Given the description of an element on the screen output the (x, y) to click on. 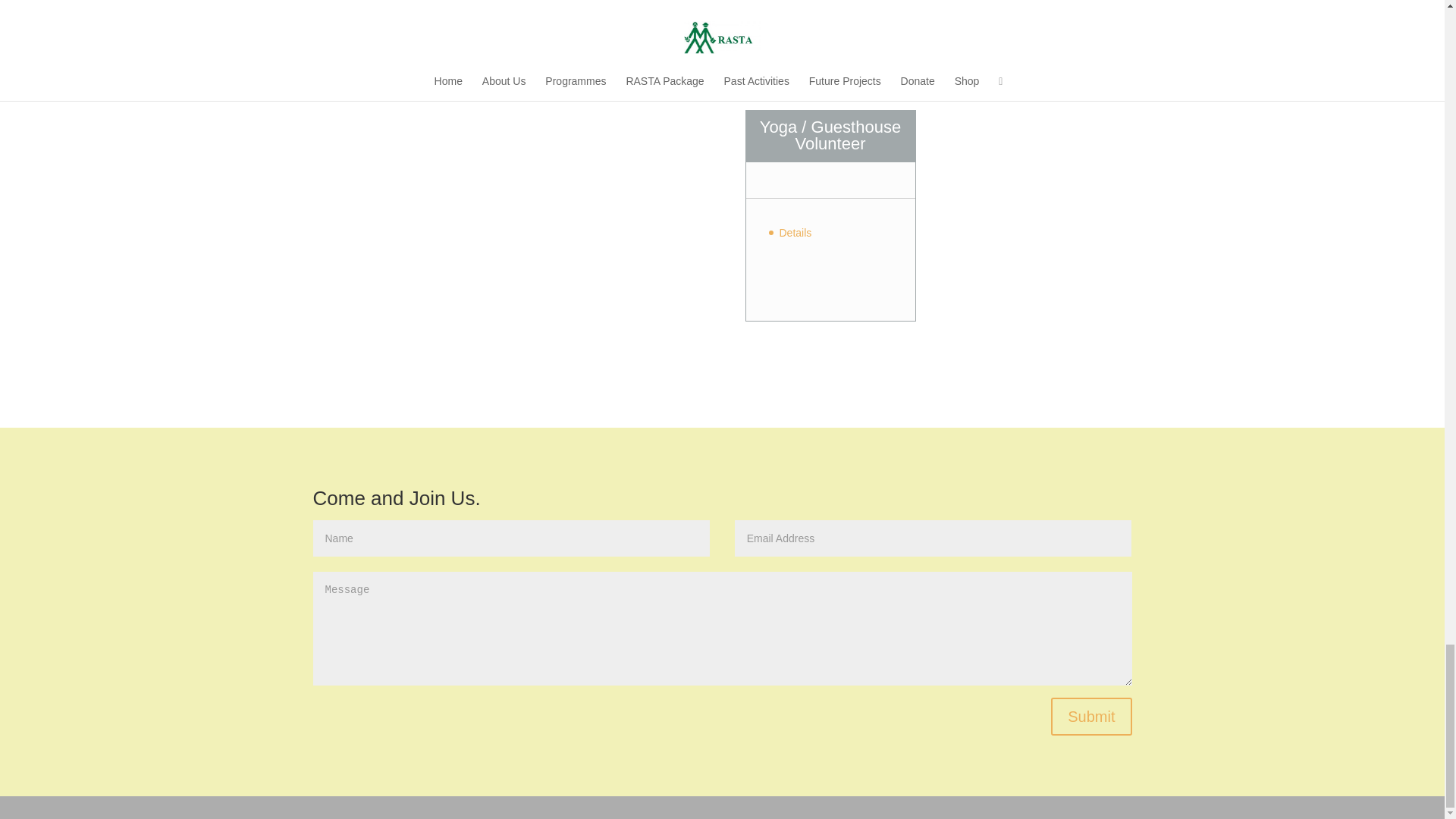
Name (511, 538)
Email Address (933, 538)
Submit (1091, 716)
